Given the description of an element on the screen output the (x, y) to click on. 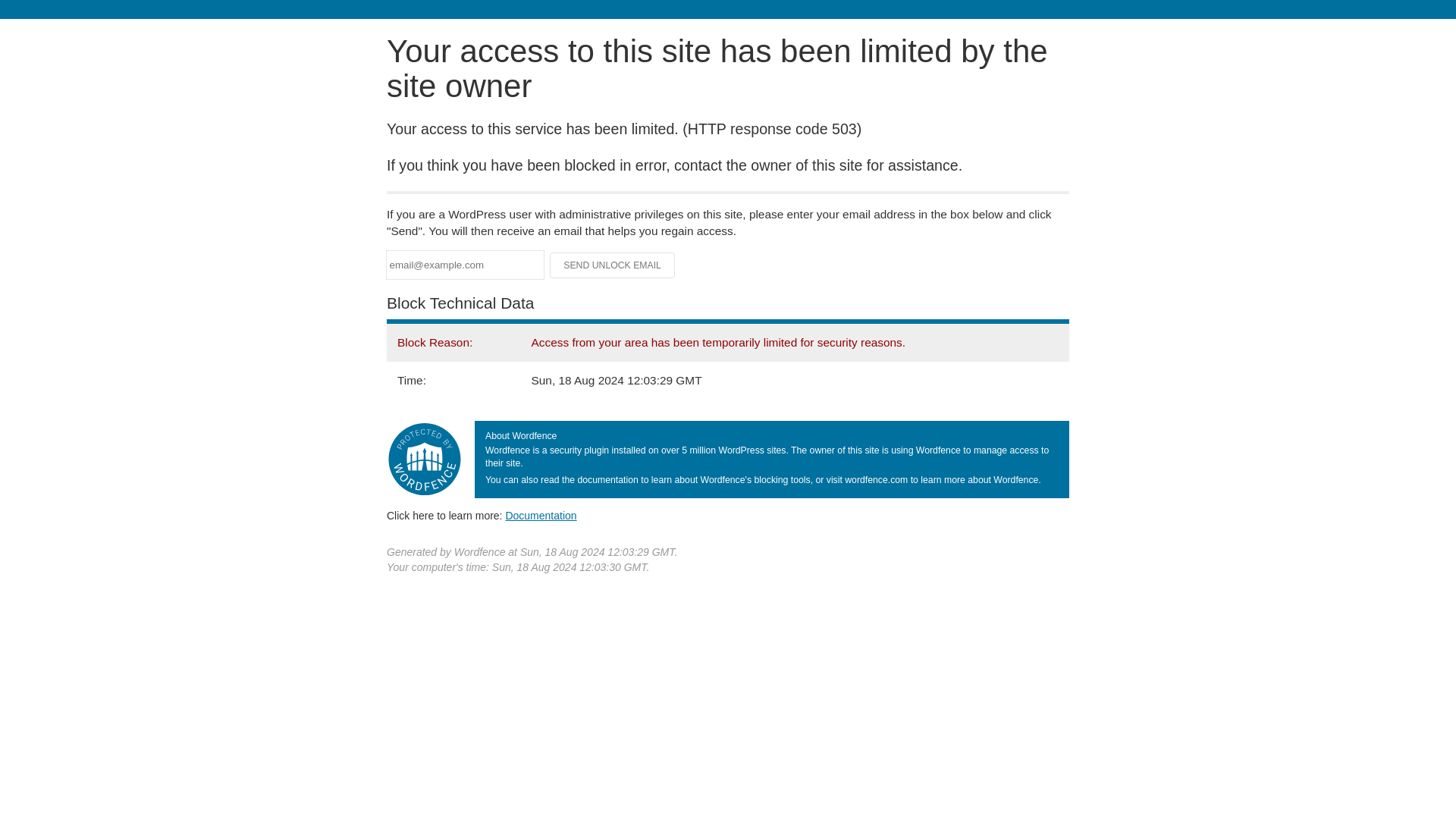
Send Unlock Email (612, 265)
Send Unlock Email (612, 265)
Documentation (540, 515)
